Given the description of an element on the screen output the (x, y) to click on. 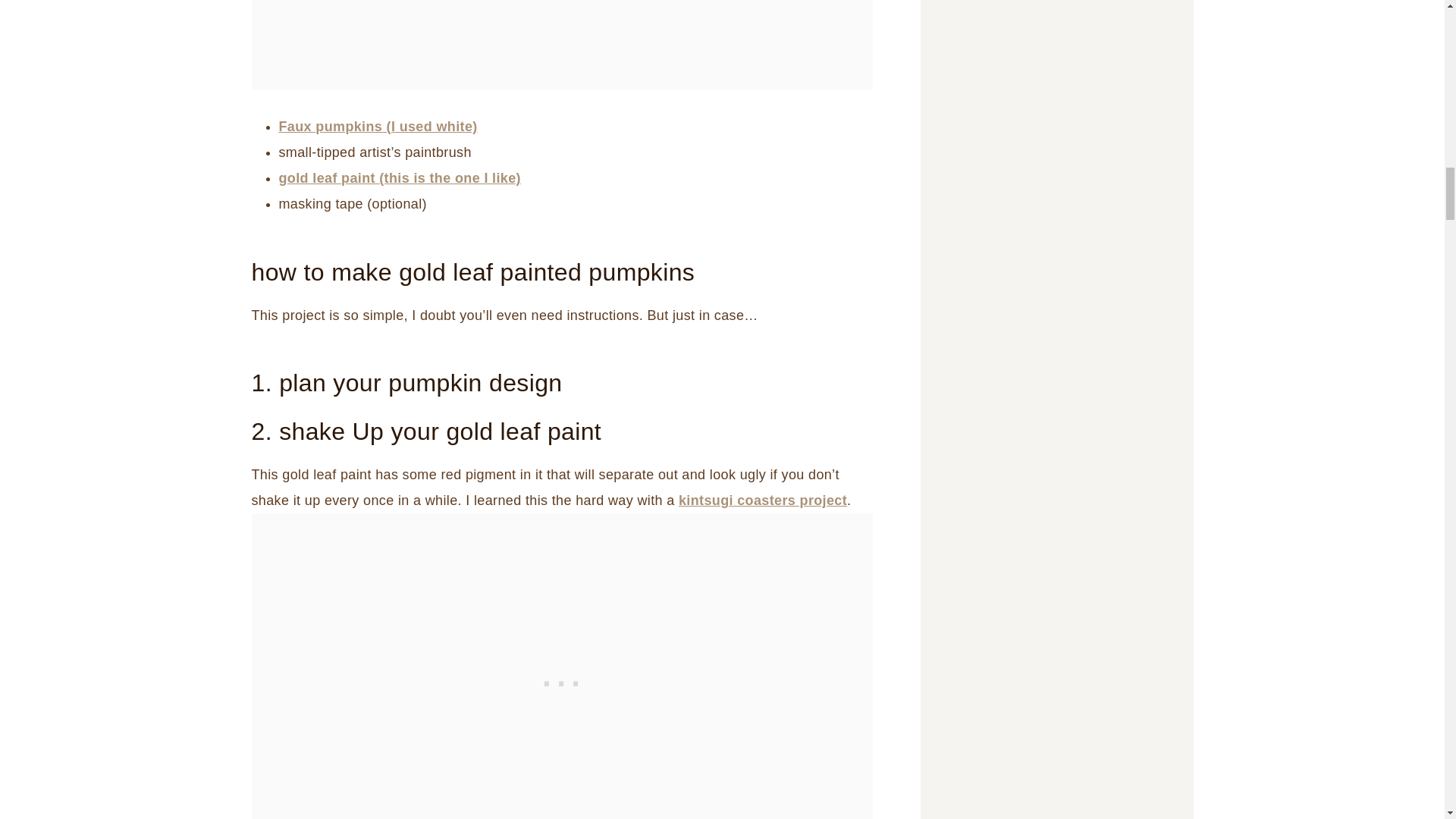
kintsugi coasters project (762, 500)
